Given the description of an element on the screen output the (x, y) to click on. 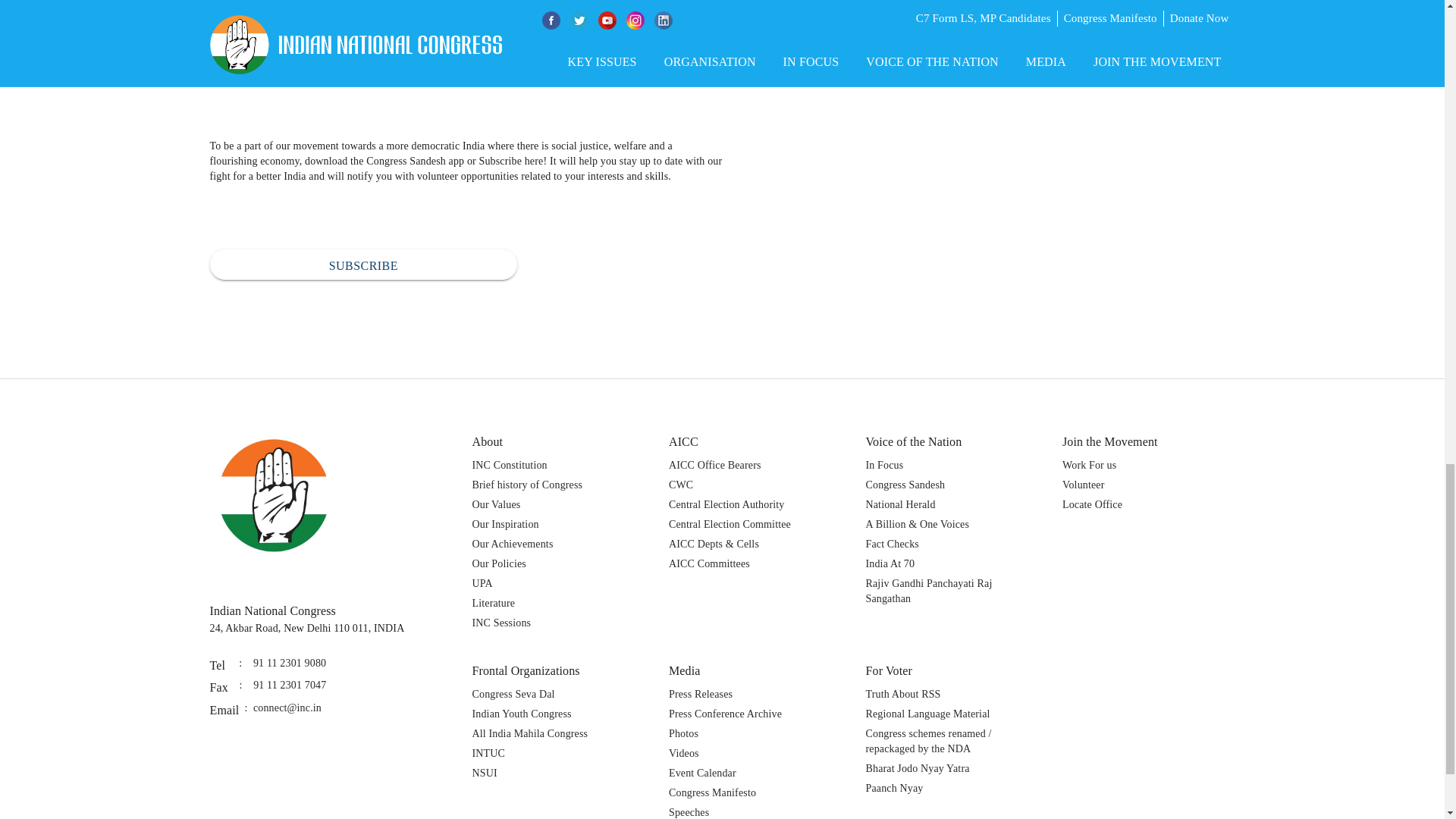
91 11 2301 9080 (289, 665)
INC Constitution (509, 464)
SUBSCRIBE (362, 264)
91 11 2301 7047 (289, 687)
